Given the description of an element on the screen output the (x, y) to click on. 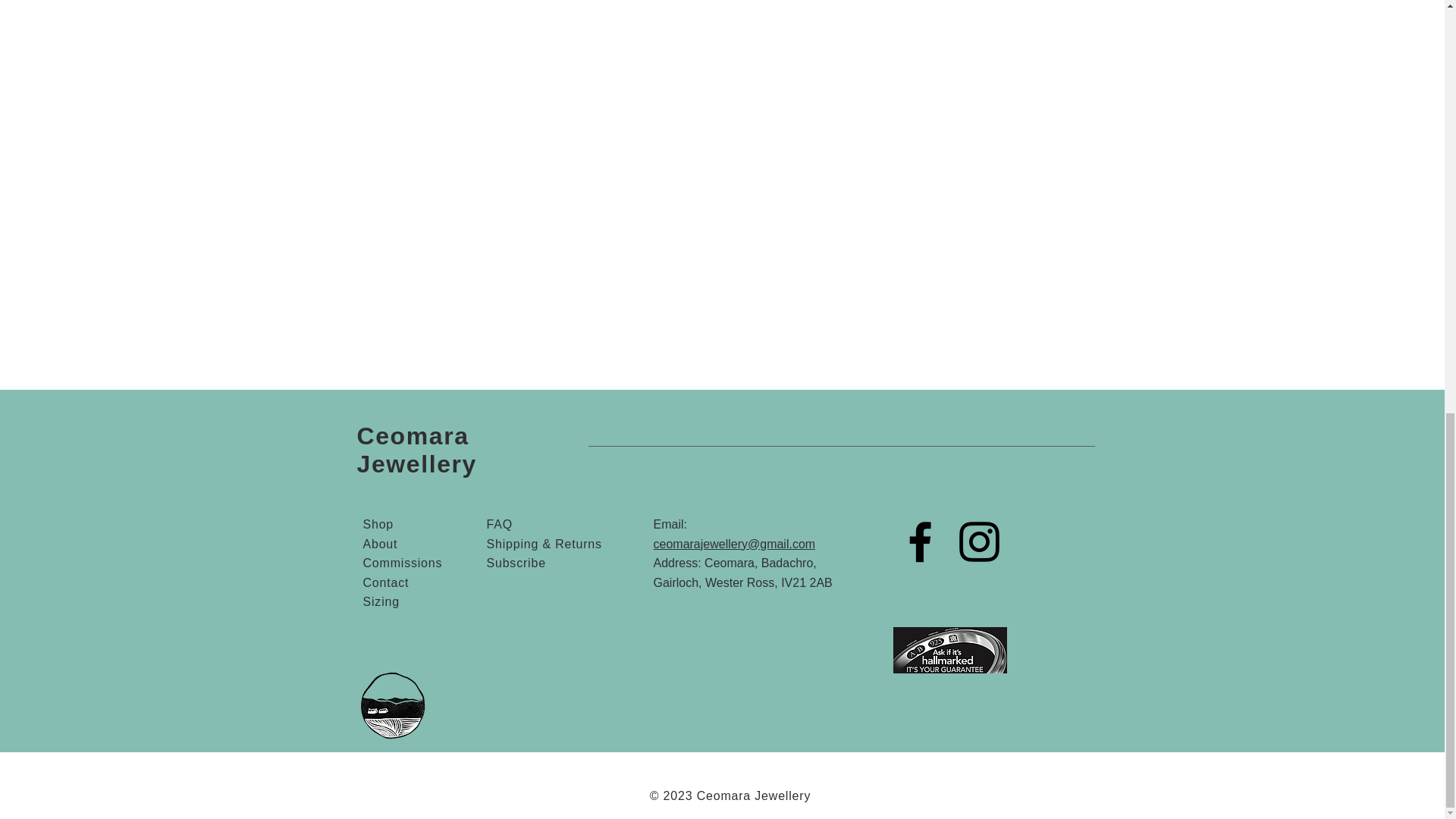
Sizing (380, 601)
Contact (385, 582)
Commissions (402, 562)
FAQ (499, 523)
Shop (377, 523)
About (379, 543)
Subscribe (516, 562)
Ceomara Jewellery (416, 449)
